Given the description of an element on the screen output the (x, y) to click on. 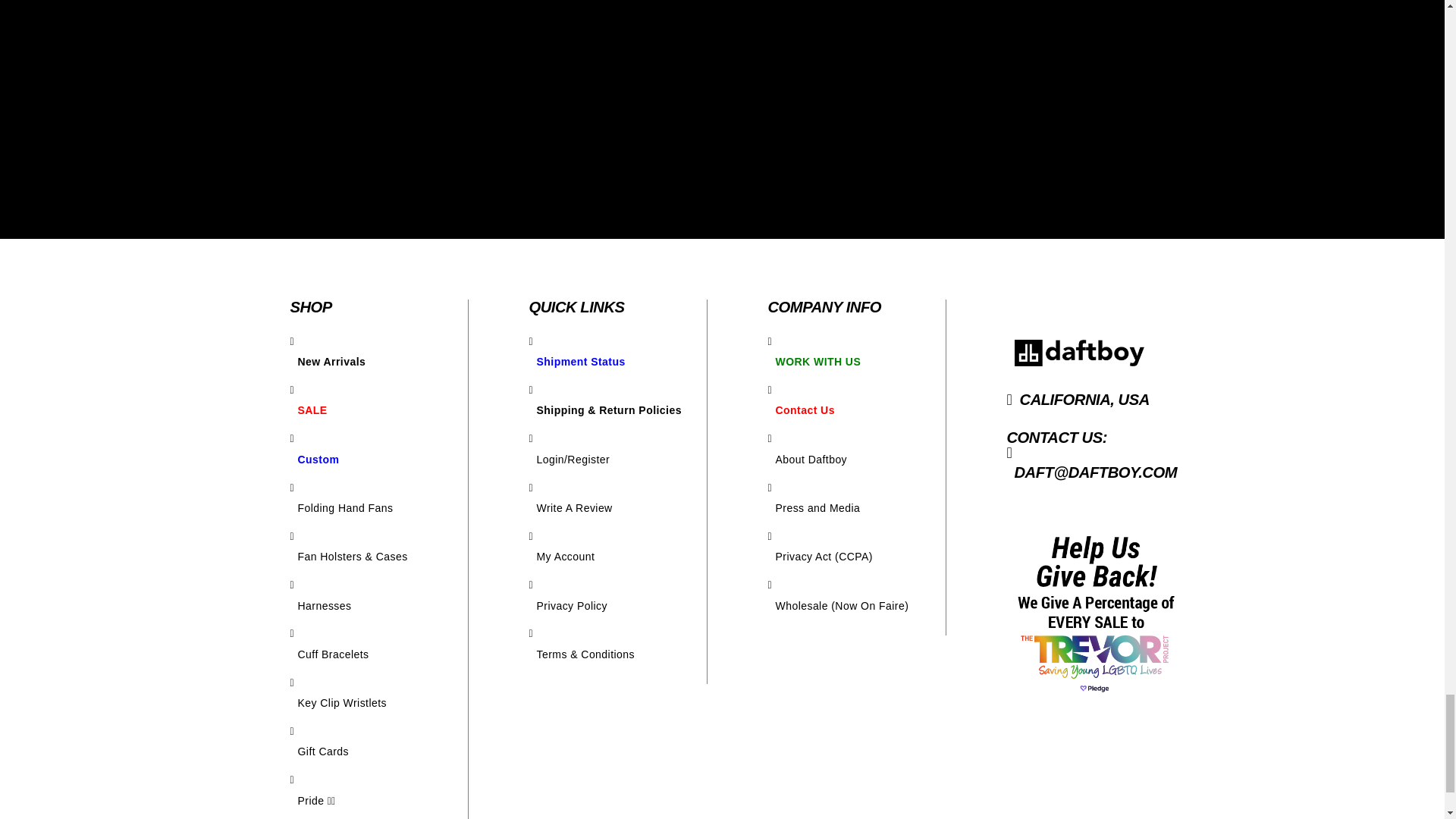
Folding Hand Fans (378, 508)
New Arrivals (378, 361)
SALE (378, 410)
Harnesses (378, 605)
Custom (378, 459)
Cuff Bracelets (378, 654)
